Given the description of an element on the screen output the (x, y) to click on. 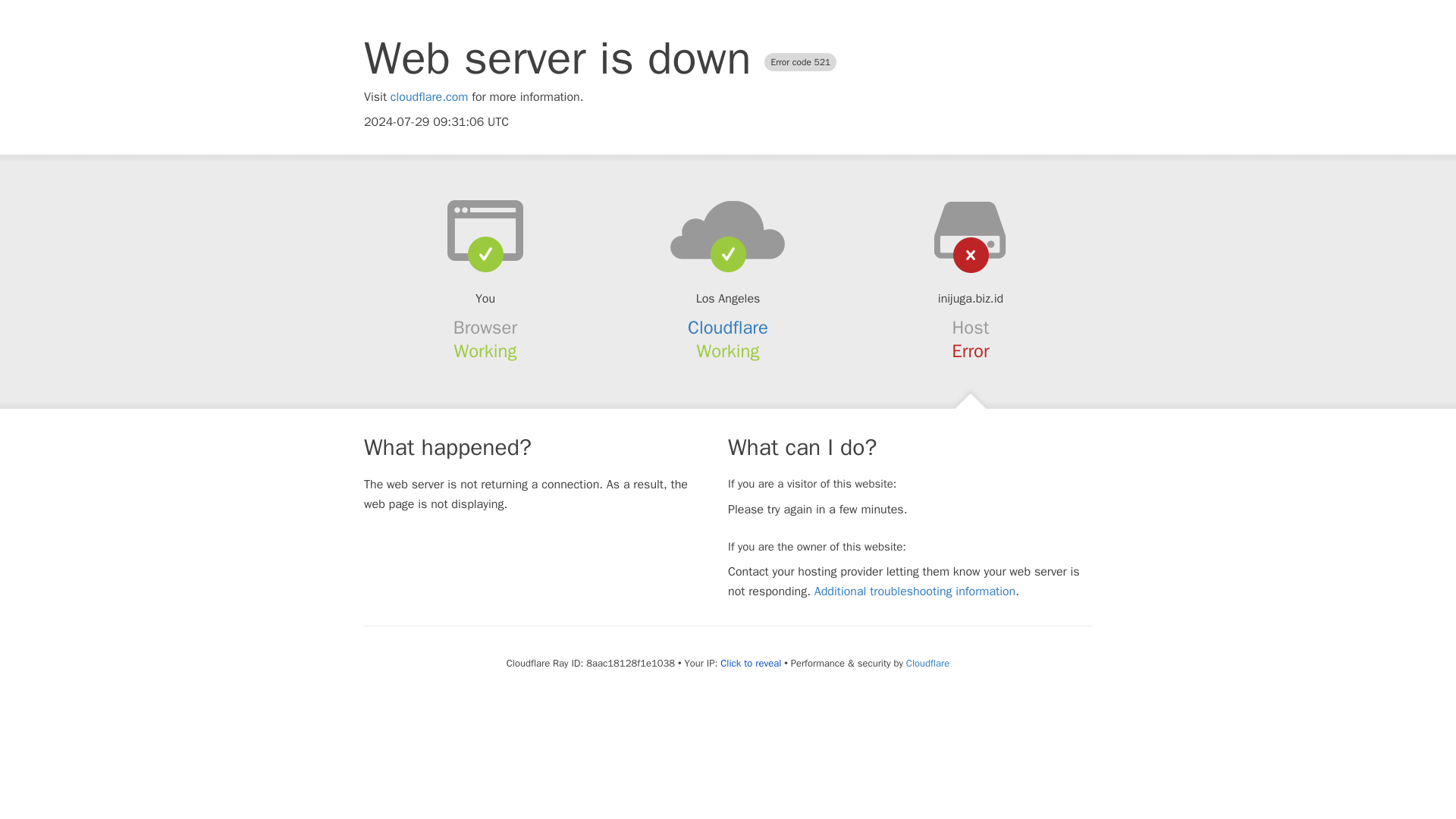
Cloudflare (927, 662)
cloudflare.com (429, 96)
Cloudflare (727, 327)
Click to reveal (750, 663)
Additional troubleshooting information (913, 590)
